Given the description of an element on the screen output the (x, y) to click on. 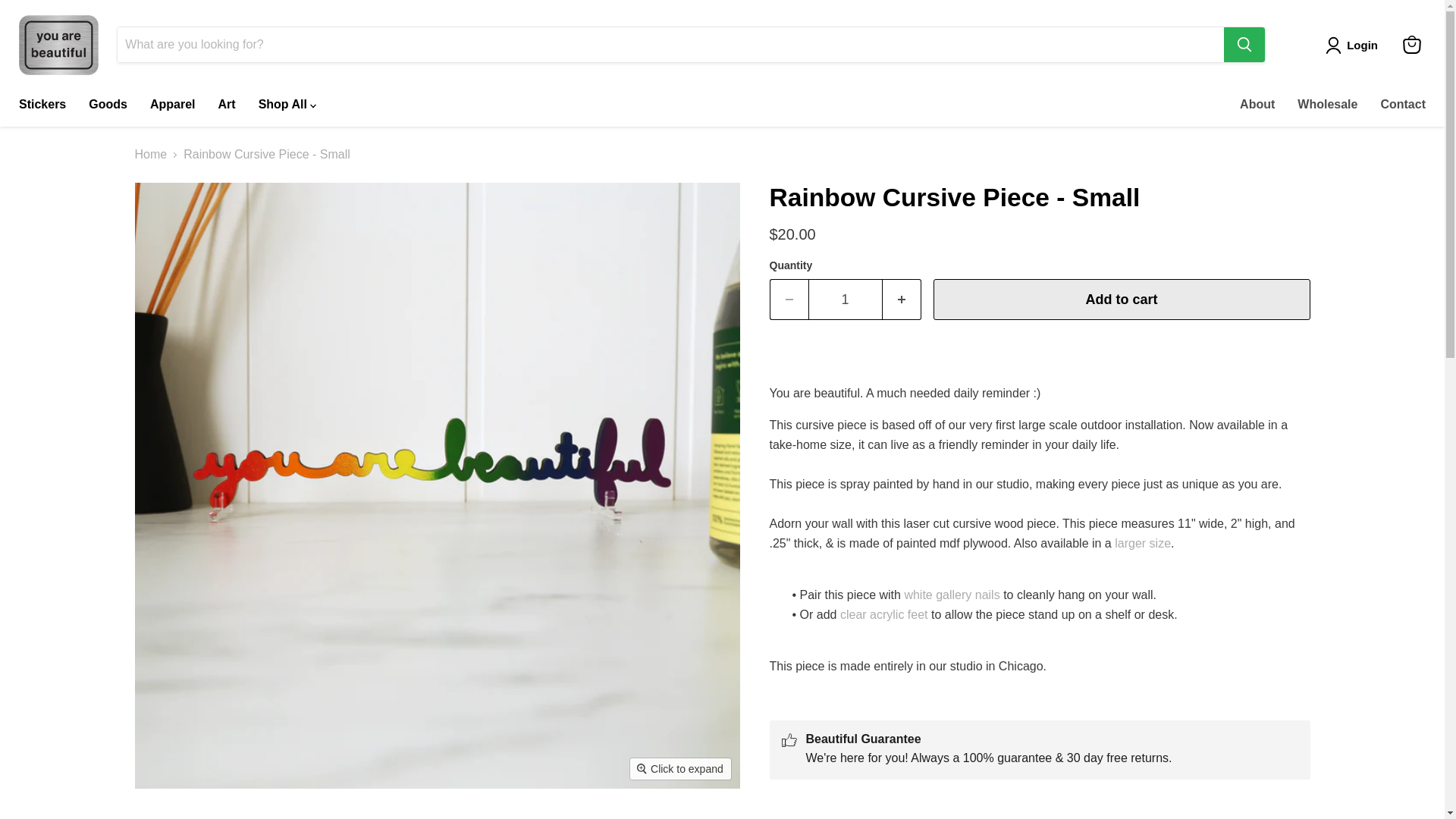
1 (845, 300)
Stickers (42, 104)
Art (226, 104)
View cart (1411, 44)
Goods (107, 104)
Login (1354, 45)
Apparel (172, 104)
